Given the description of an element on the screen output the (x, y) to click on. 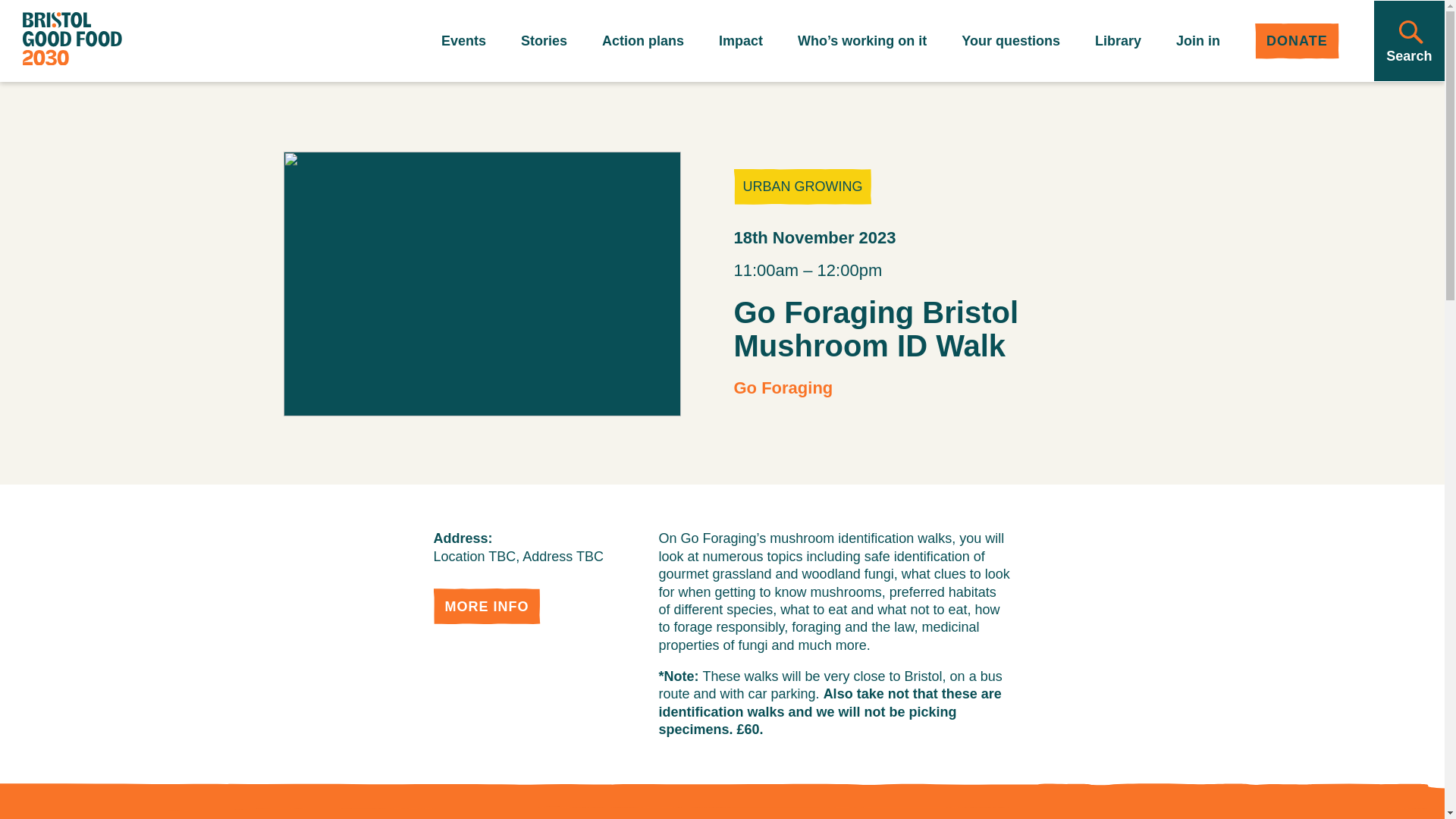
Stories (544, 40)
MORE INFO (486, 606)
DONATE (1297, 40)
Join in (1198, 40)
Impact (740, 40)
Go to homepage (72, 40)
Events (463, 40)
Action plans (643, 40)
Library (1117, 40)
Your questions (1009, 40)
